Given the description of an element on the screen output the (x, y) to click on. 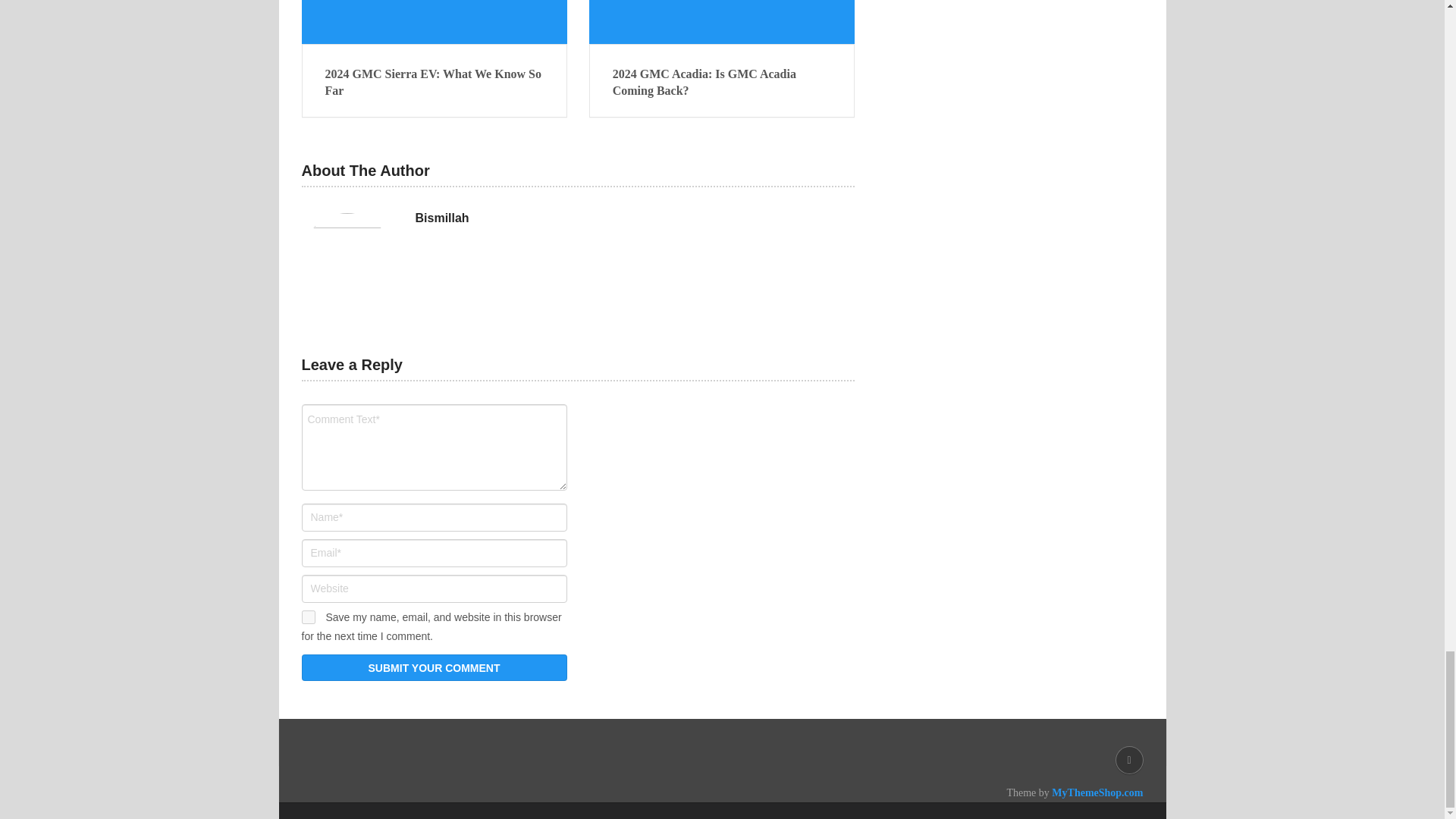
2024 GMC Acadia: Is GMC Acadia Coming Back? (721, 22)
2024 GMC Sierra EV: What We Know So Far (434, 22)
2024 GMC Acadia: Is GMC Acadia Coming Back? (721, 82)
yes (308, 617)
Submit Your Comment (434, 667)
2024 GMC Sierra EV: What We Know So Far (433, 82)
